Given the description of an element on the screen output the (x, y) to click on. 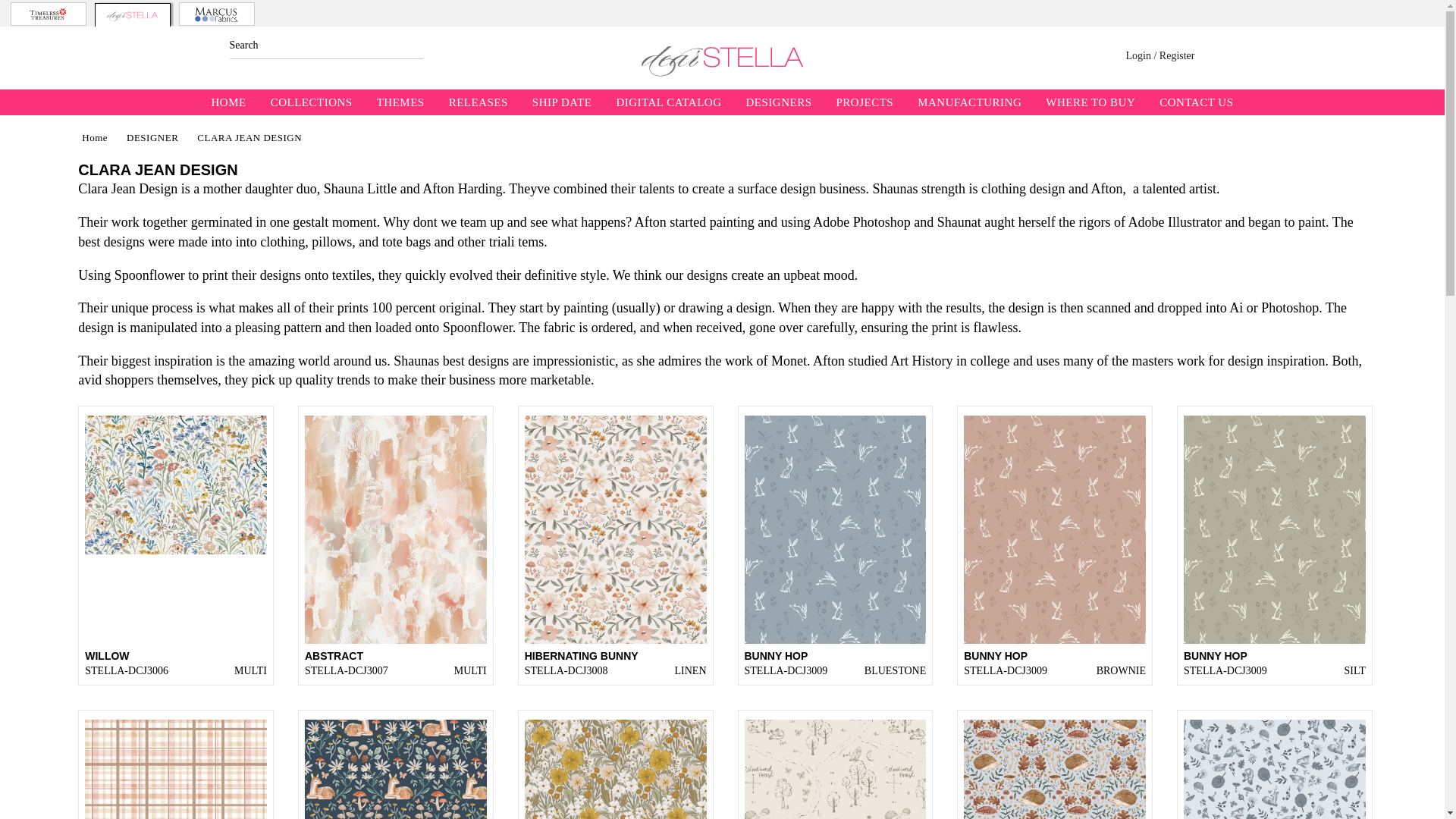
COLLECTIONS (312, 101)
COLLECTIONS (312, 101)
HOME (227, 101)
Marcus Fabrics  (216, 13)
Dear Stella (131, 14)
Dear Stella (722, 56)
Timeless Treasures (47, 14)
HOME (227, 101)
Marcus Fabrics (215, 14)
Timeless Treasures (47, 13)
